Given the description of an element on the screen output the (x, y) to click on. 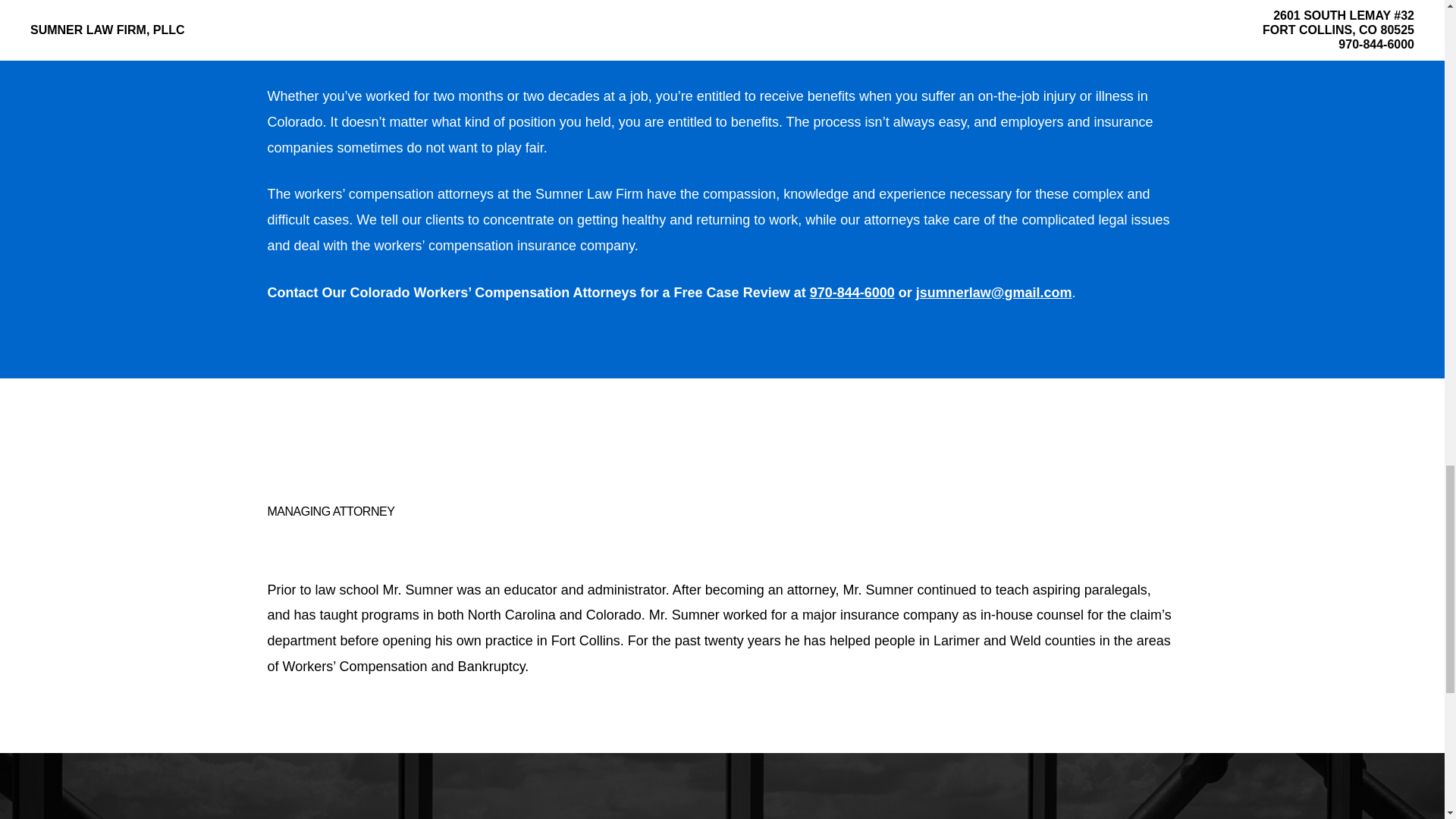
970-844-6000 (852, 292)
